Given the description of an element on the screen output the (x, y) to click on. 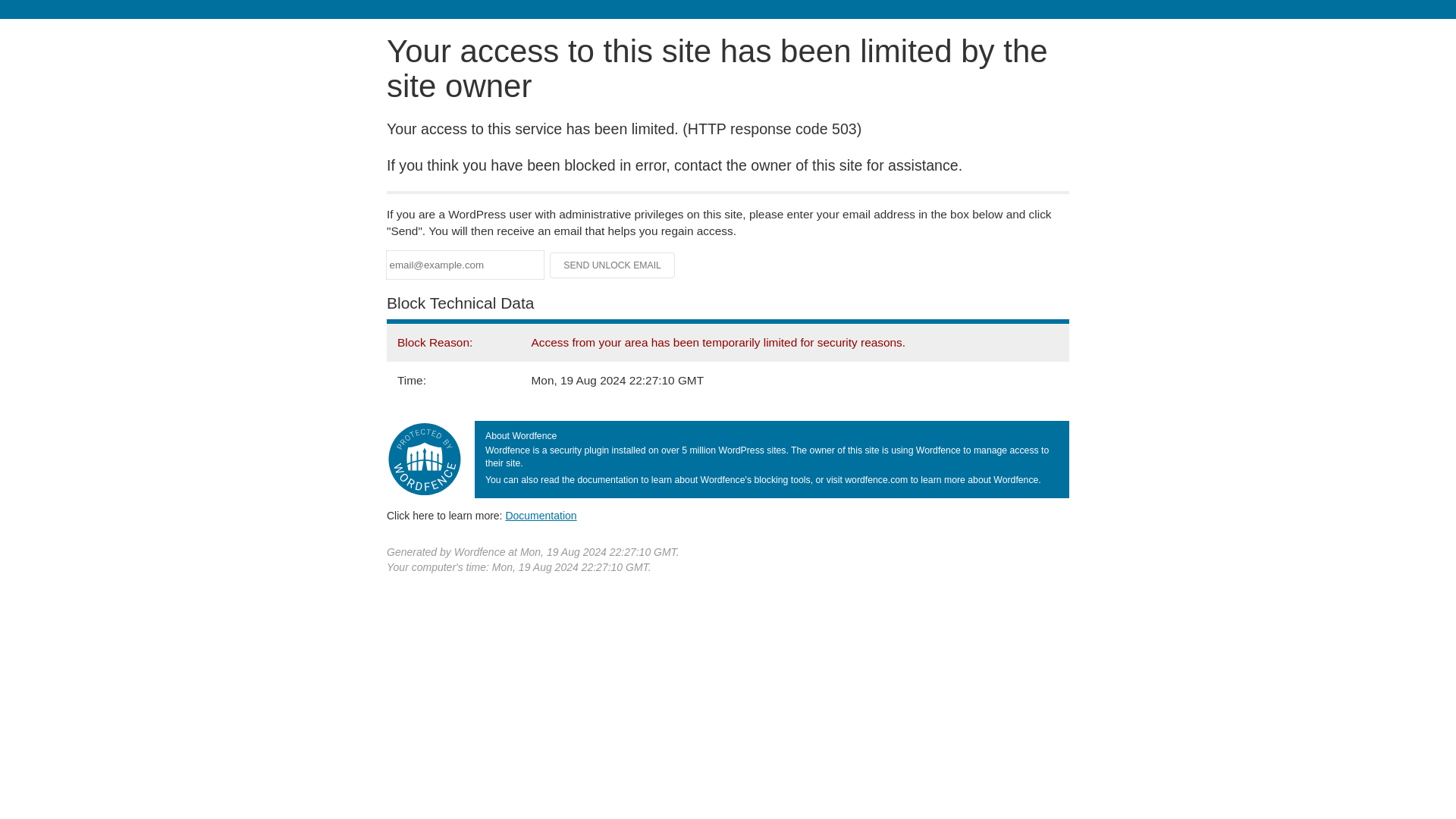
Documentation (540, 515)
Send Unlock Email (612, 265)
Send Unlock Email (612, 265)
